Given the description of an element on the screen output the (x, y) to click on. 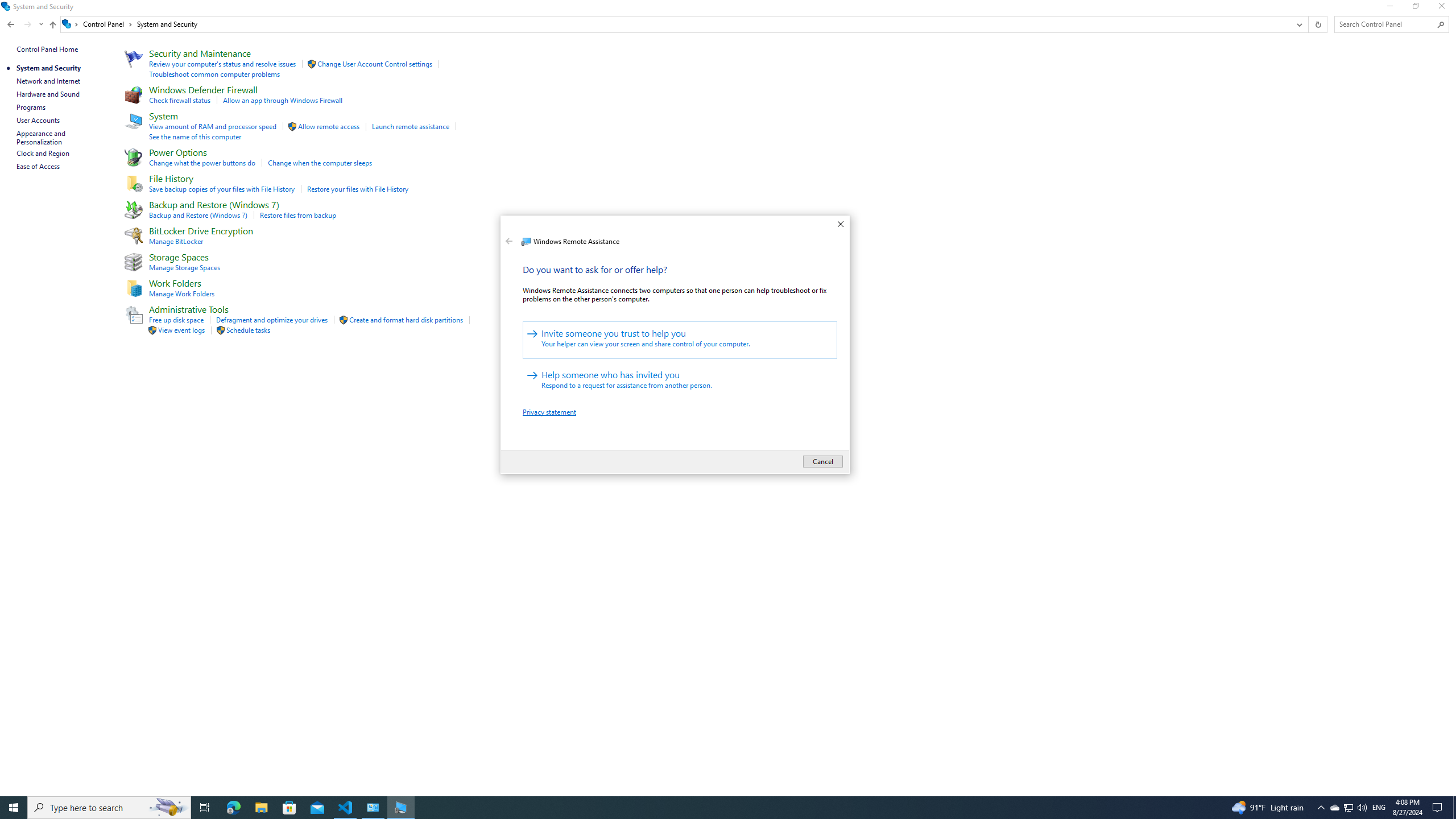
Back (508, 241)
Microsoft Edge (233, 807)
Privacy statement (549, 411)
Windows Remote Assistance - 1 running window (400, 807)
User Promoted Notification Area (1347, 807)
Tray Input Indicator - English (United States) (1378, 807)
Control Panel - 1 running window (1347, 807)
File Explorer (373, 807)
System (261, 807)
Running applications (506, 226)
Invite someone you trust to help you (706, 807)
Search highlights icon opens search home window (679, 339)
